Given the description of an element on the screen output the (x, y) to click on. 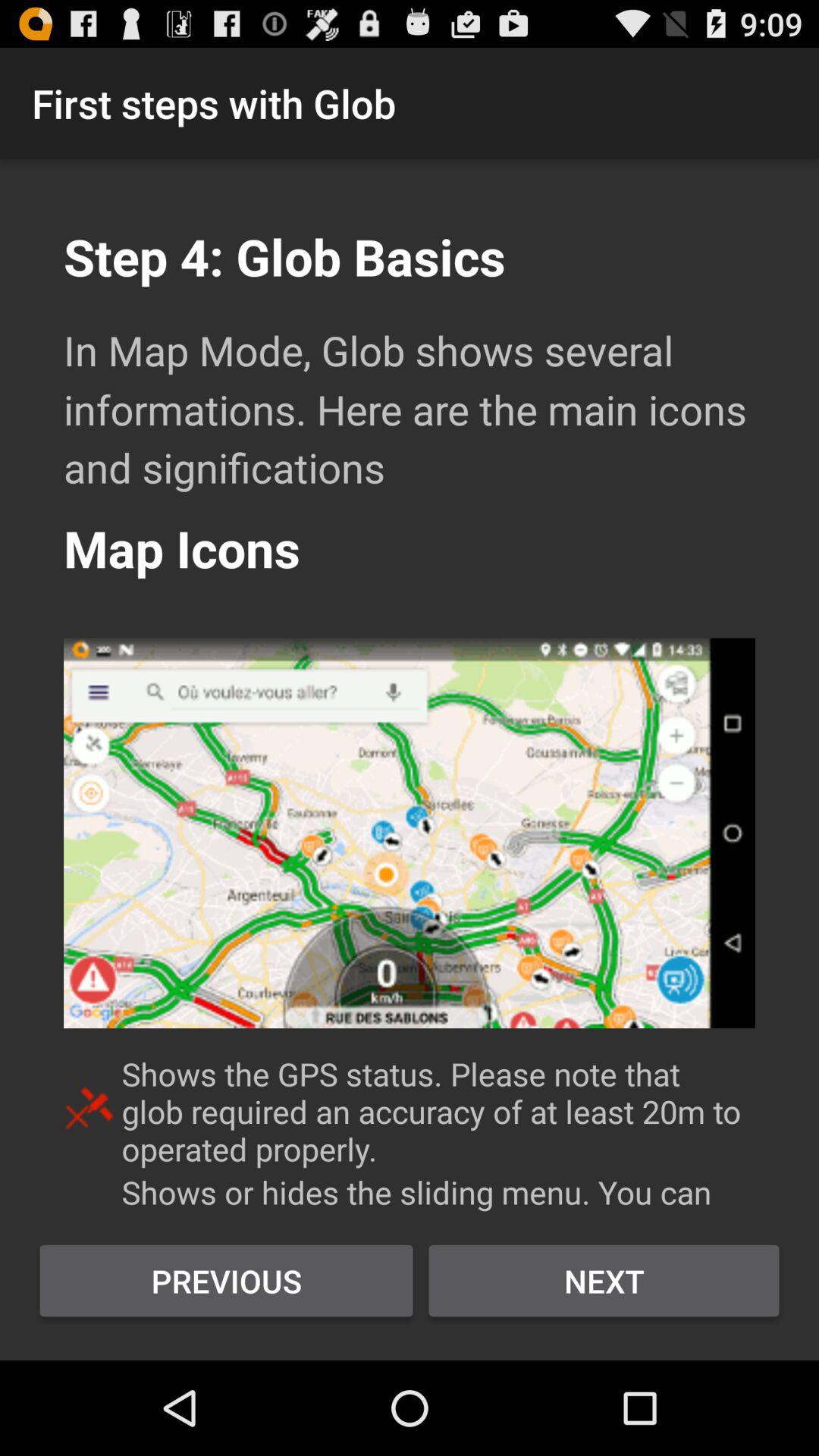
choose icon to the left of next item (225, 1280)
